Given the description of an element on the screen output the (x, y) to click on. 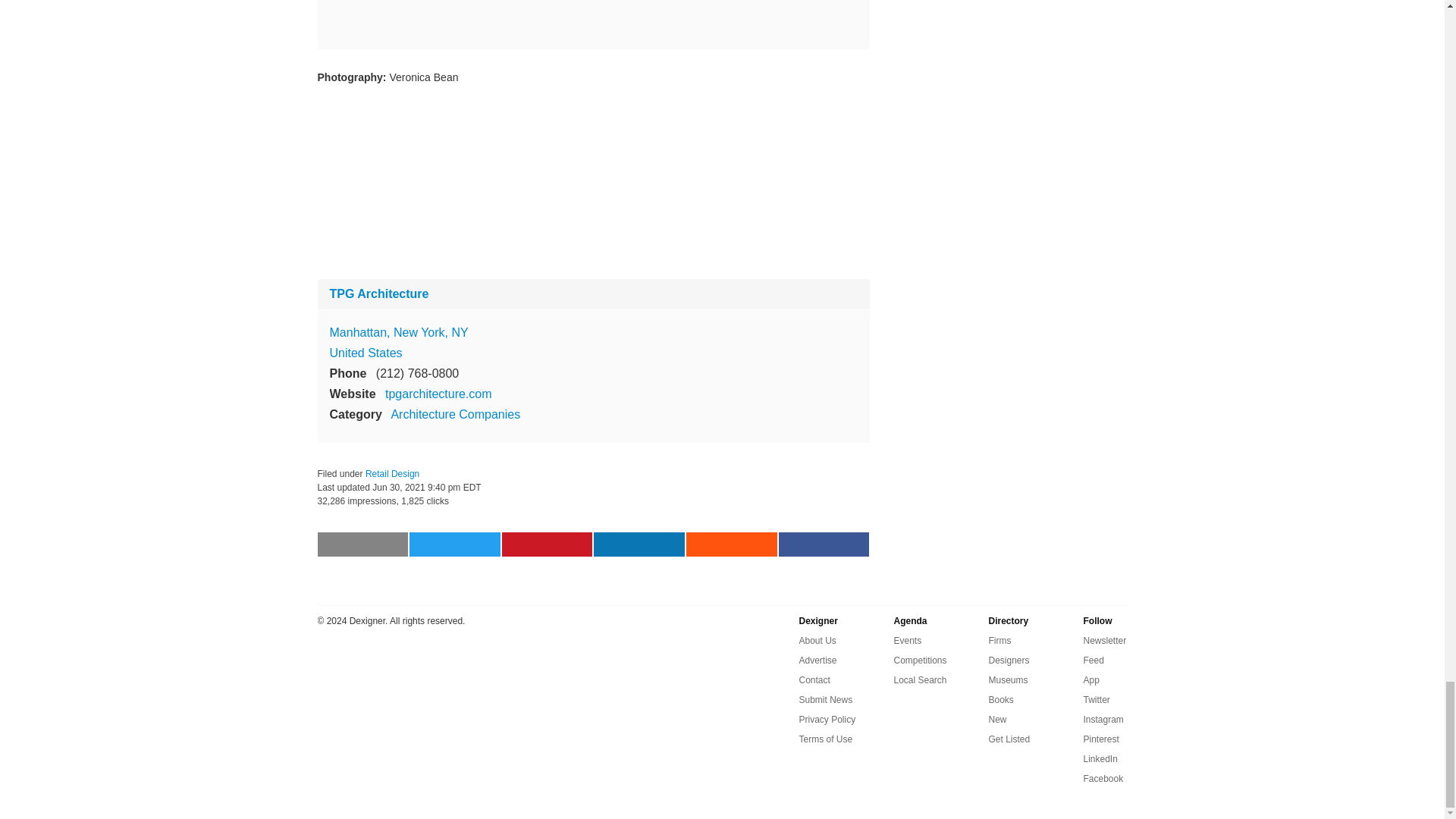
Advertise (818, 660)
Contact (814, 679)
Newsletter (1104, 640)
New (997, 719)
Books (1000, 700)
Competitions (919, 660)
Events (907, 640)
tpgarchitecture.com (438, 393)
Feed (1093, 660)
View on Map (398, 332)
